Given the description of an element on the screen output the (x, y) to click on. 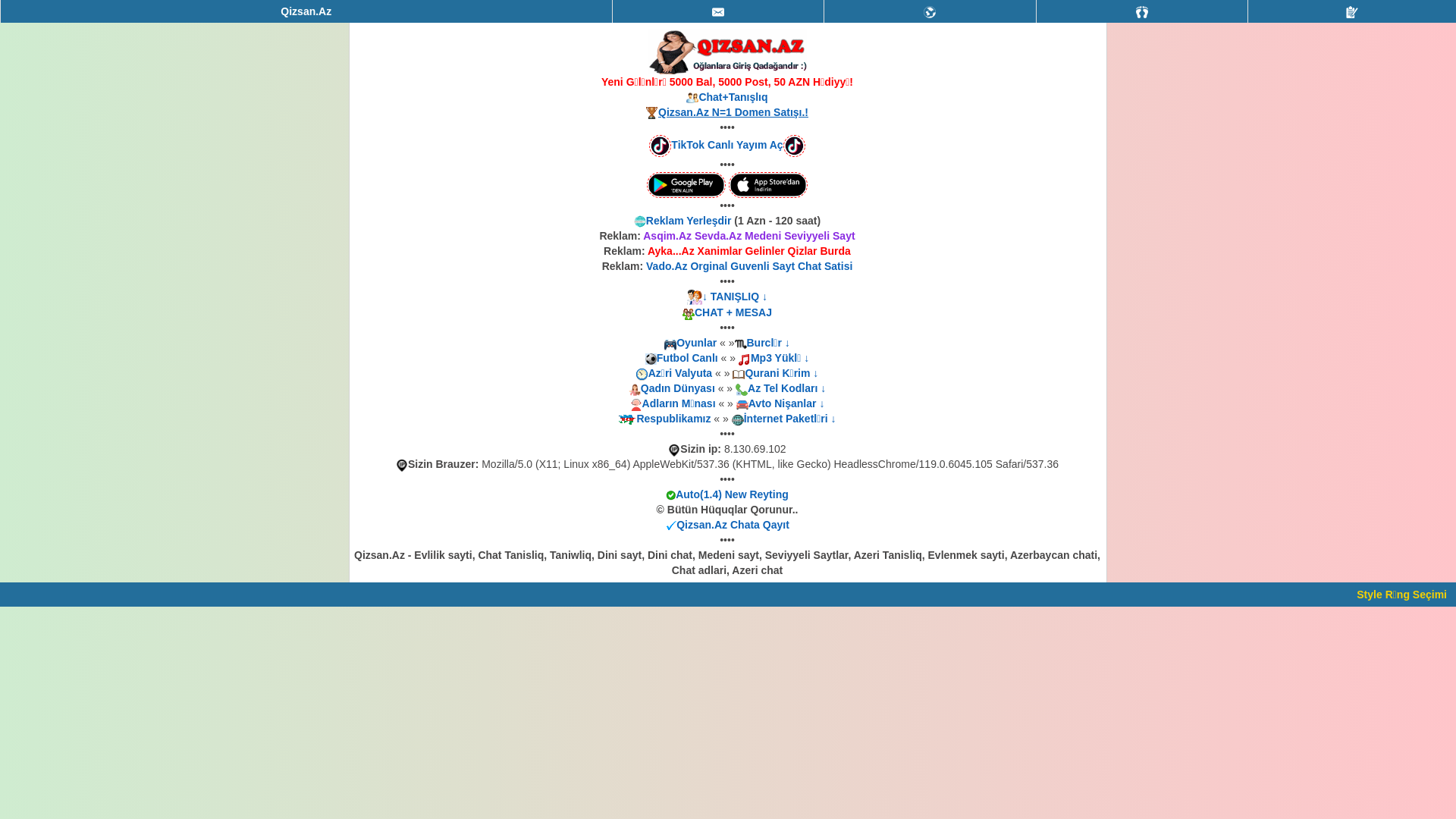
Qizsan.Az Element type: text (305, 11)
Mektublar Element type: hover (929, 11)
Mesajlar Element type: hover (718, 12)
Qonaqlar Element type: hover (1142, 11)
Mektublar Element type: hover (929, 12)
Qonaqlar Element type: hover (1141, 12)
Auto(1.4) New Reyting Element type: text (731, 494)
Asqim.Az Sevda.Az Medeni Seviyyeli Sayt Element type: text (748, 235)
Oyunlar Element type: text (696, 342)
Ayka...Az Xanimlar Gelinler Qizlar Burda Element type: text (748, 250)
Vado.Az Orginal Guvenli Sayt Chat Satisi Element type: text (749, 266)
Mesajlar Element type: hover (718, 11)
CHAT + MESAJ Element type: text (732, 312)
